Given the description of an element on the screen output the (x, y) to click on. 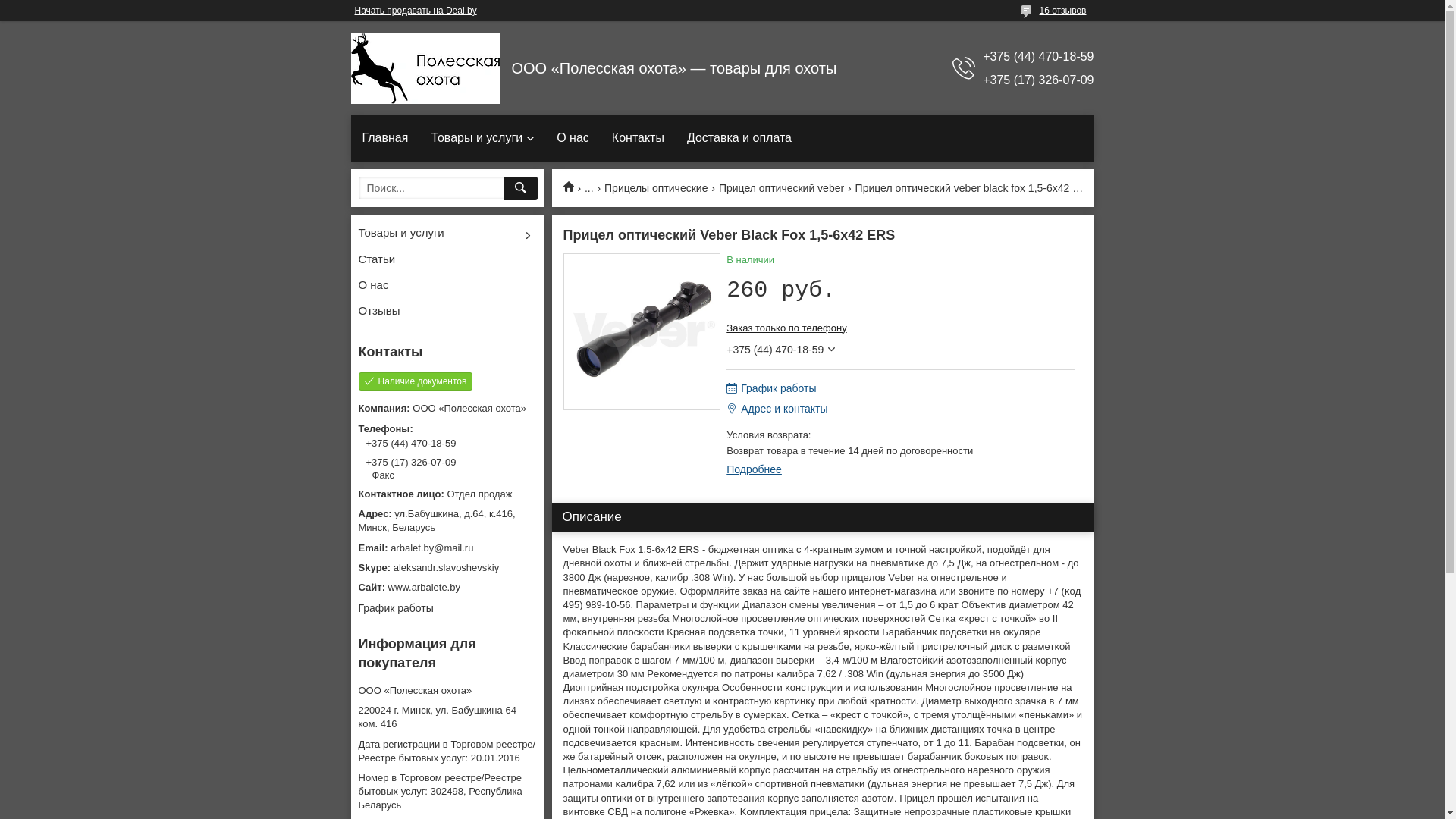
www.arbalete.by Element type: text (446, 587)
arbalet.by@mail.ru Element type: text (446, 548)
